Given the description of an element on the screen output the (x, y) to click on. 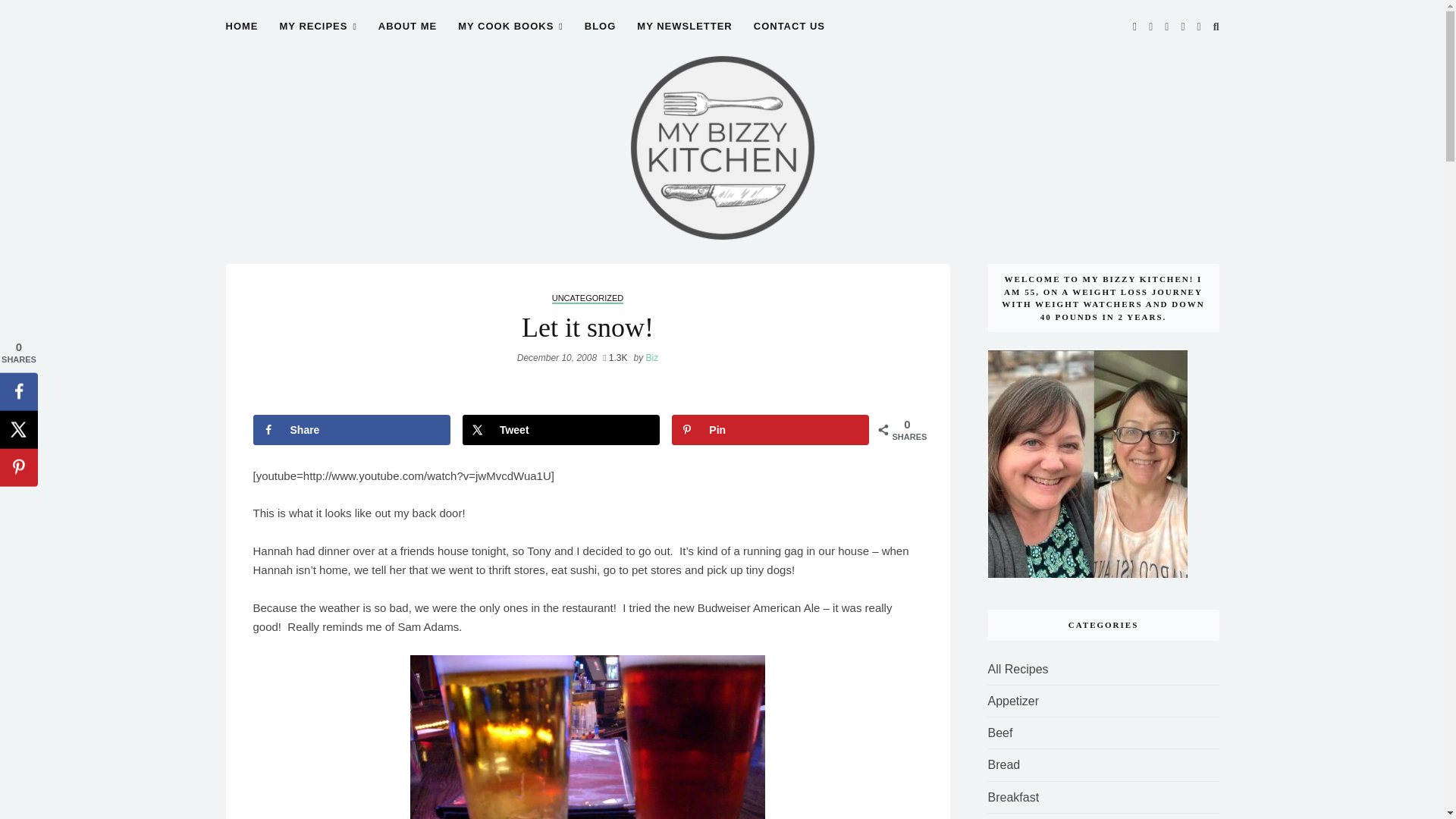
dscn3531-640x480 (587, 737)
HOME (242, 35)
MY RECIPES (317, 35)
Share on Facebook (351, 429)
Save to Pinterest (770, 429)
Share on X (561, 429)
